Given the description of an element on the screen output the (x, y) to click on. 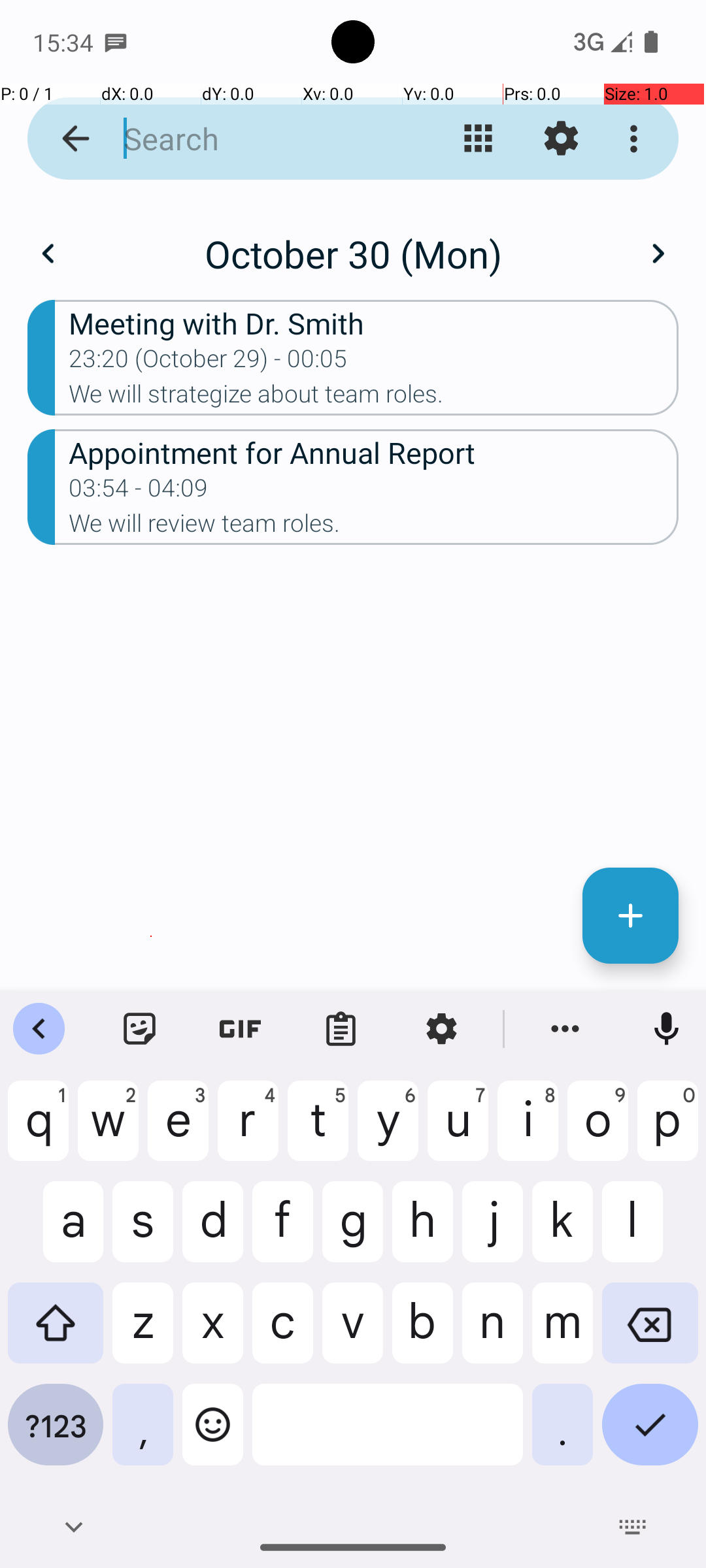
October 30 (Mon) Element type: android.widget.TextView (352, 253)
Meeting with Dr. Smith Element type: android.widget.TextView (373, 321)
23:20 (October 29) - 00:05 Element type: android.widget.TextView (207, 362)
We will strategize about team roles. Element type: android.widget.TextView (373, 397)
Appointment for Annual Report Element type: android.widget.TextView (373, 451)
03:54 - 04:09 Element type: android.widget.TextView (137, 491)
We will review team roles. Element type: android.widget.TextView (373, 526)
